Given the description of an element on the screen output the (x, y) to click on. 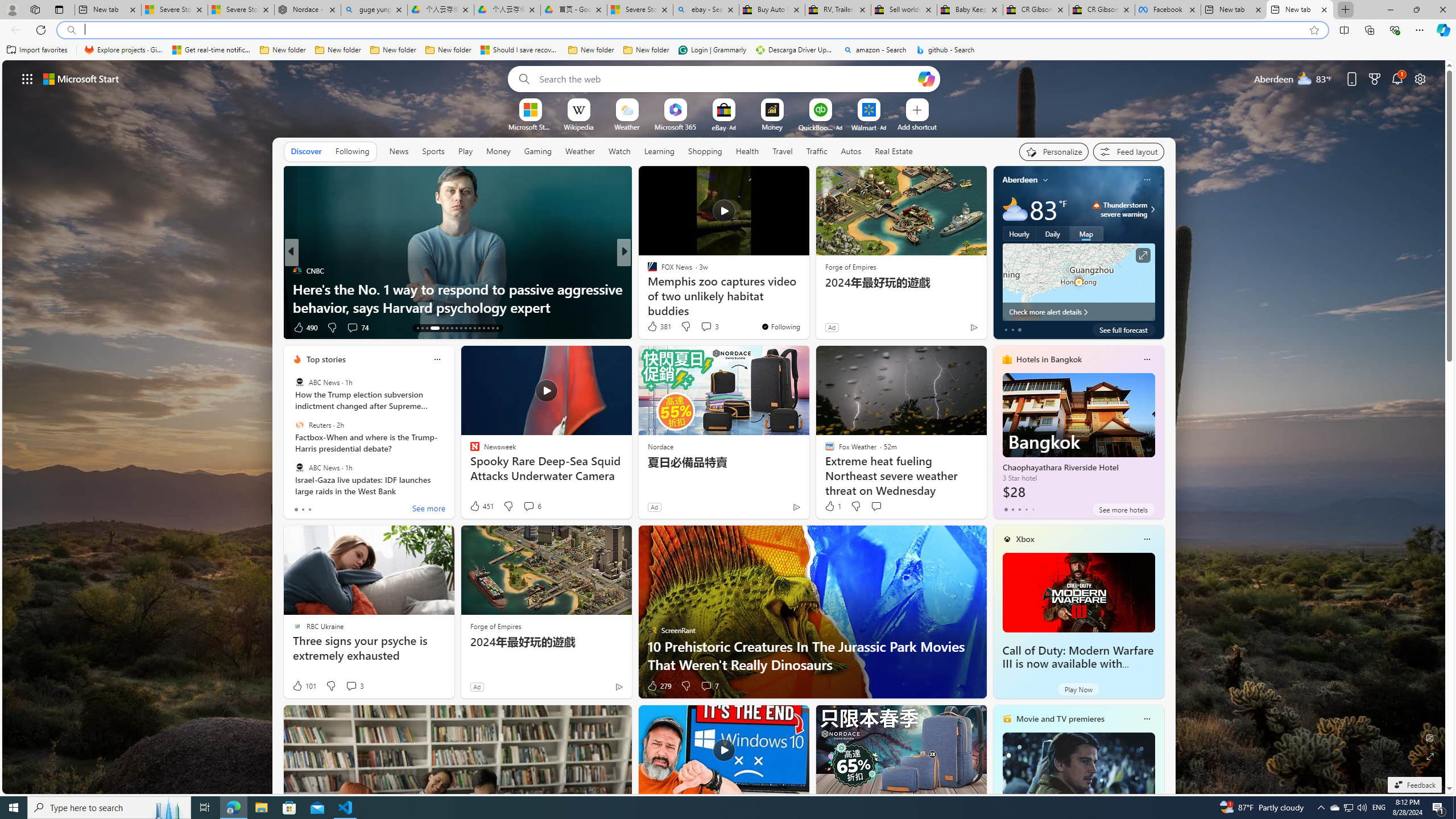
Autos (850, 151)
Class: control (27, 78)
AutomationID: tab-27 (488, 328)
Expand background (1430, 756)
Tropics waking up in September (807, 307)
AutomationID: tab-24 (474, 328)
View comments 1 Comment (698, 327)
